Given the description of an element on the screen output the (x, y) to click on. 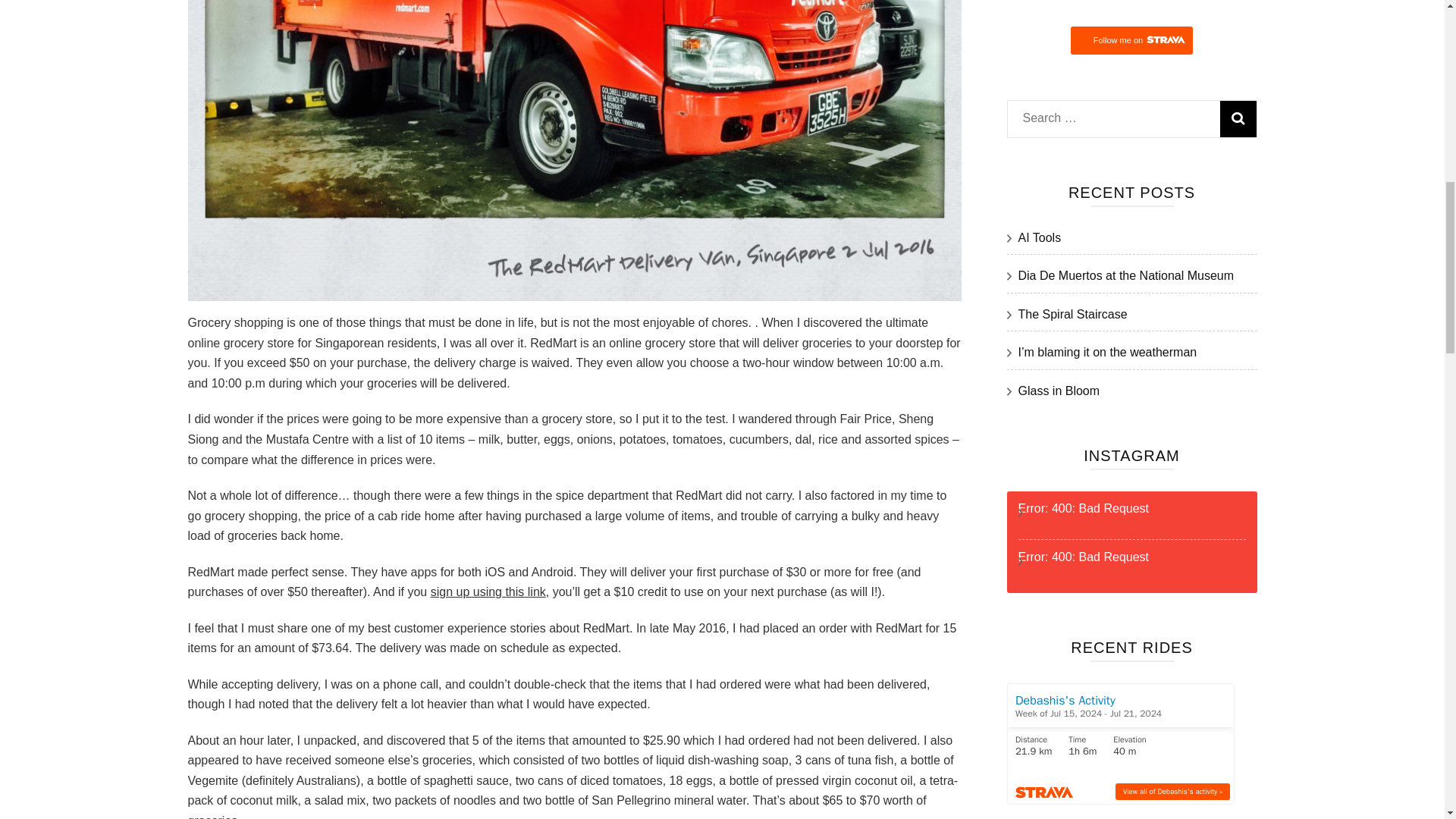
Search (1237, 118)
Search (1237, 118)
